Given the description of an element on the screen output the (x, y) to click on. 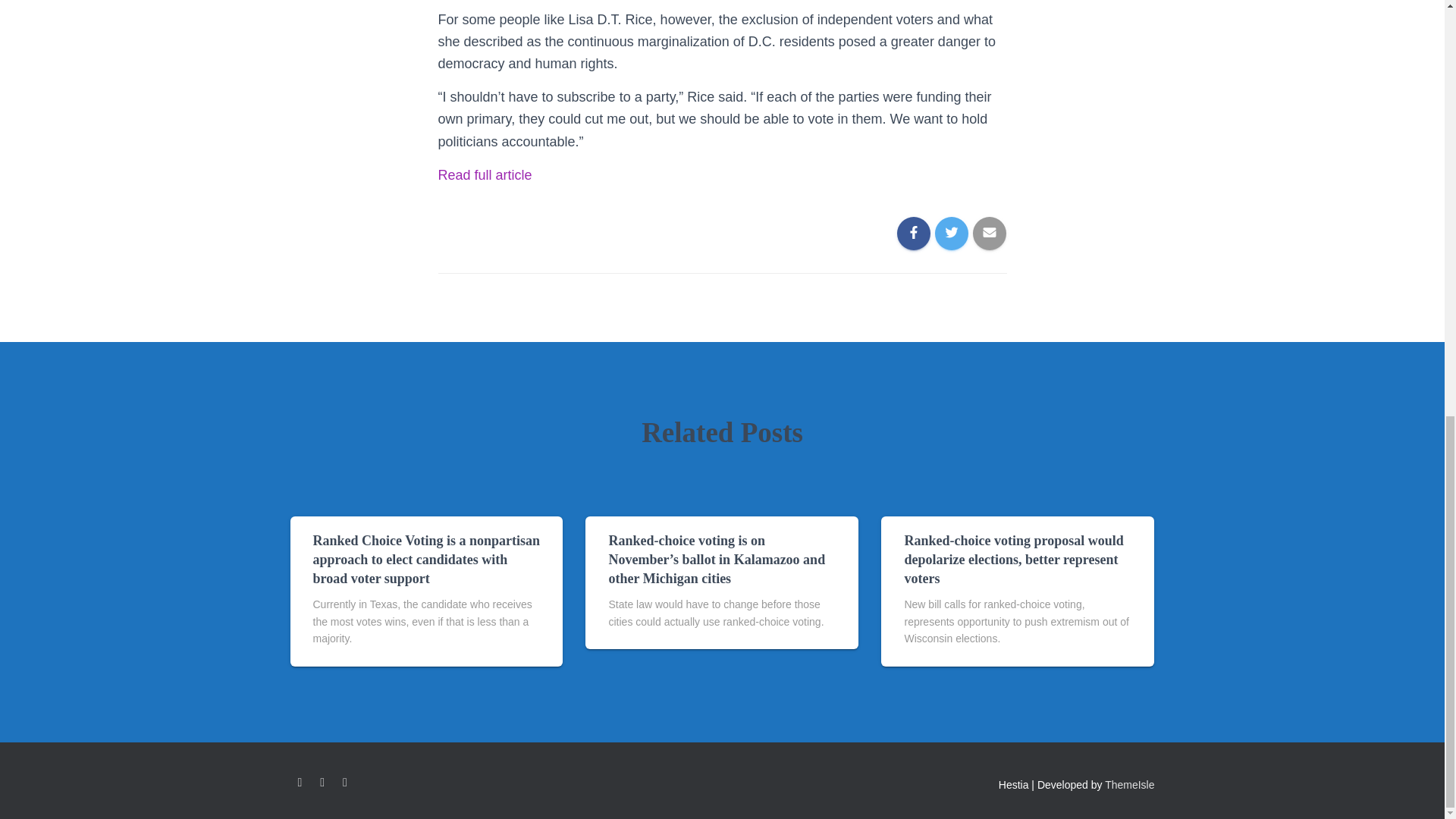
ThemeIsle (1129, 784)
Read full article (485, 174)
